Given the description of an element on the screen output the (x, y) to click on. 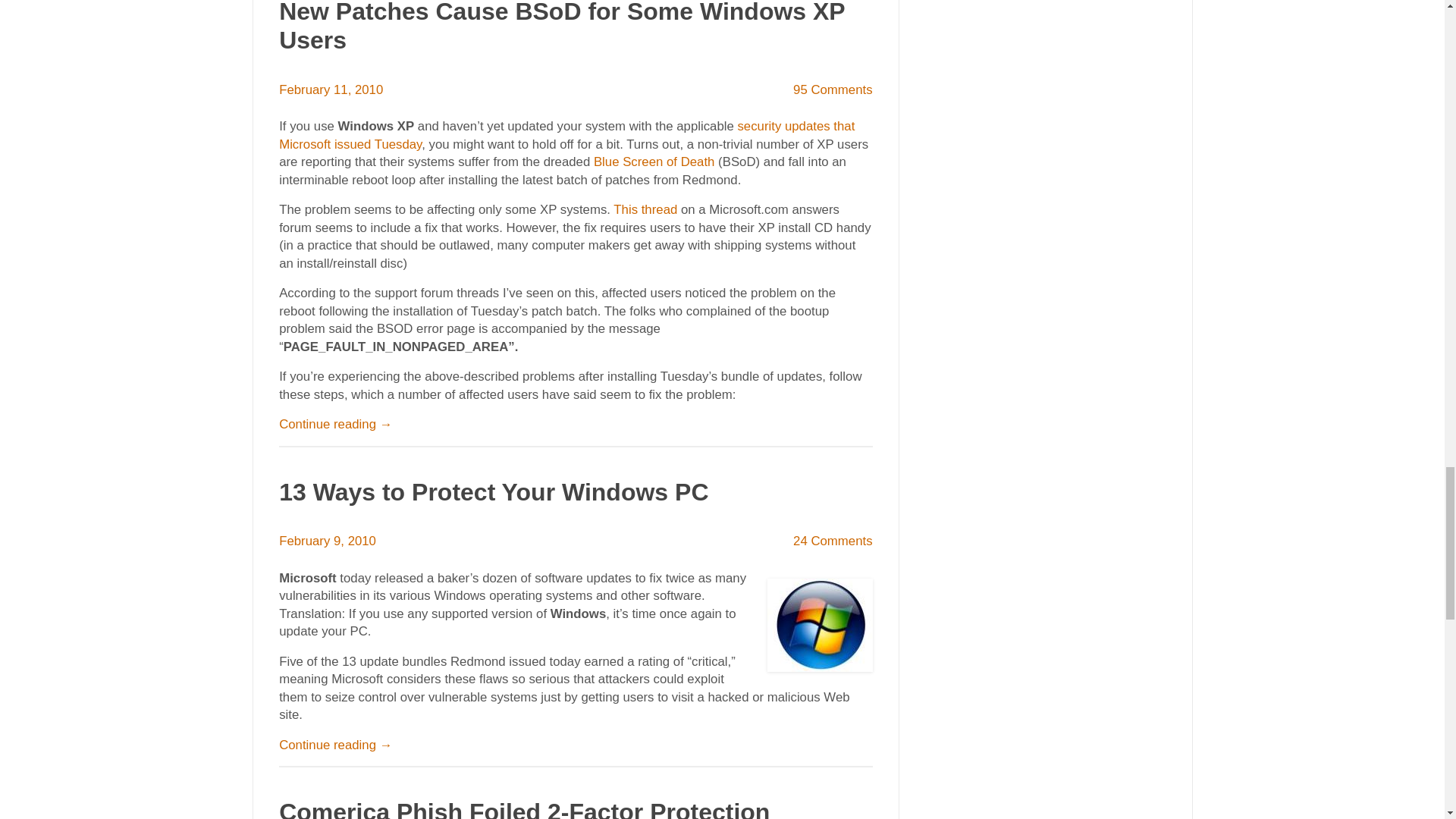
Permalink to 13 Ways to Protect Your Windows PC (493, 492)
winicon (819, 624)
Permalink to Comerica Phish Foiled 2-Factor Protection (524, 808)
